Given the description of an element on the screen output the (x, y) to click on. 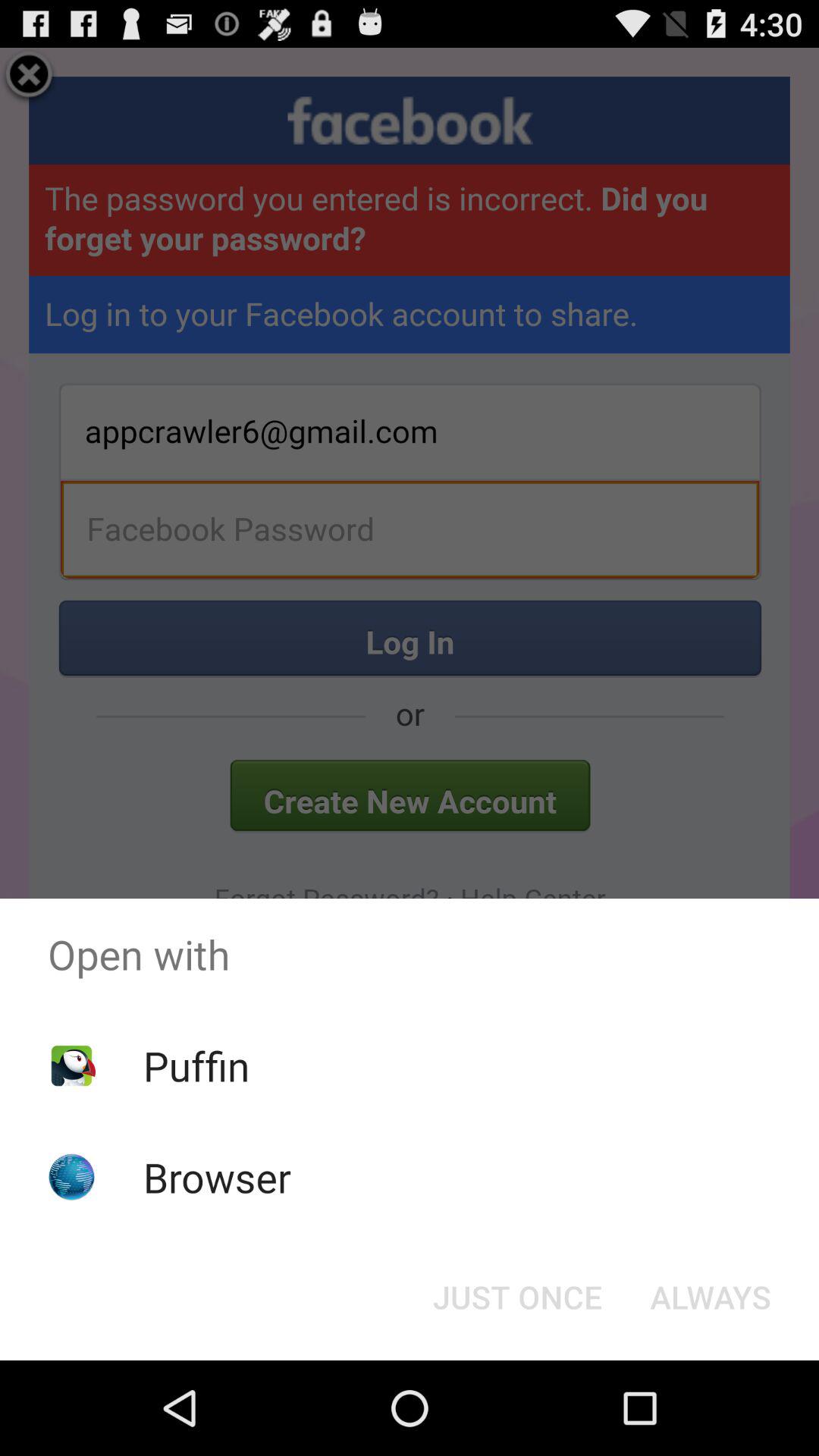
open the button to the right of just once icon (710, 1296)
